Given the description of an element on the screen output the (x, y) to click on. 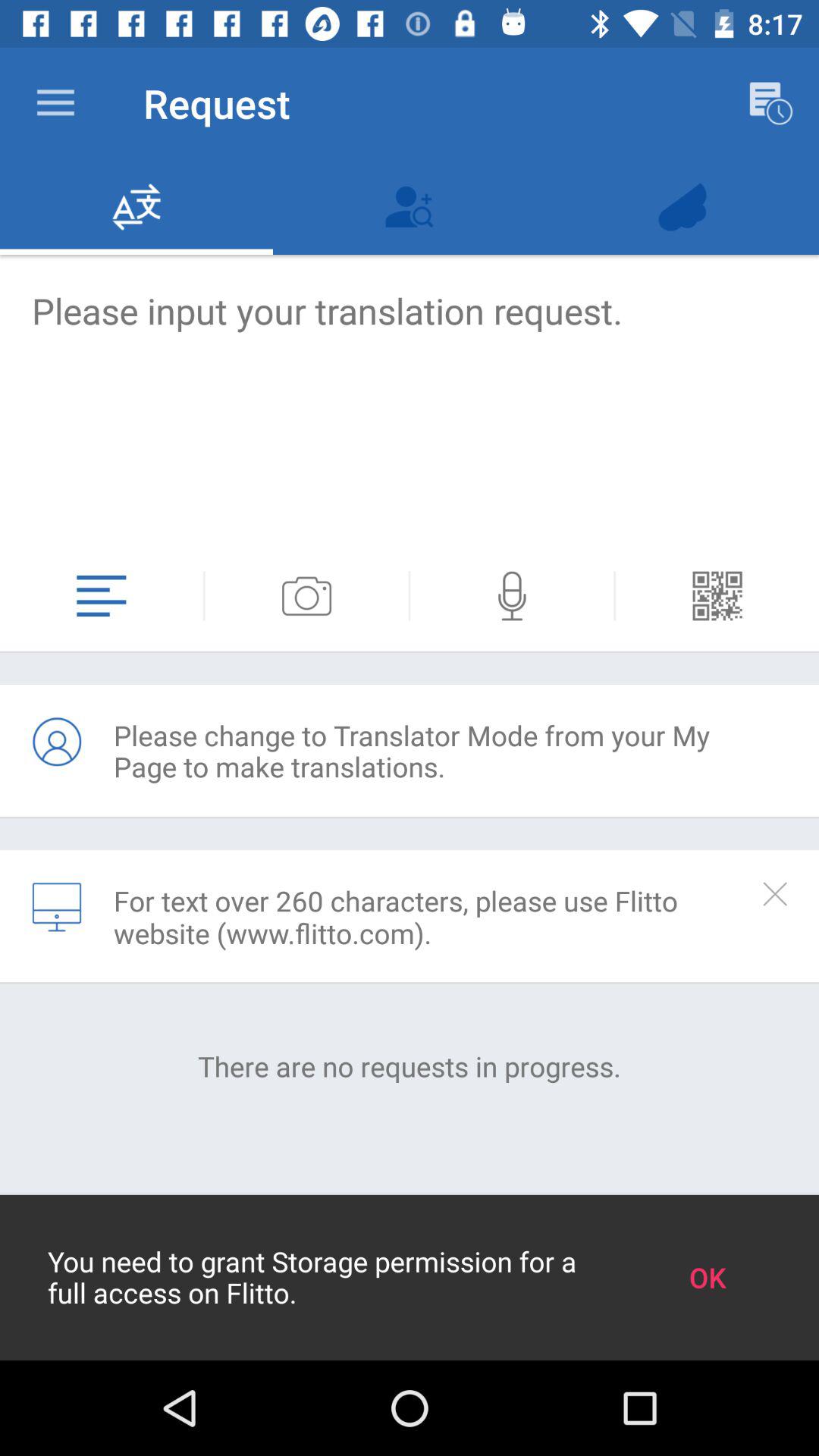
press the icon next to for text over icon (56, 907)
